Given the description of an element on the screen output the (x, y) to click on. 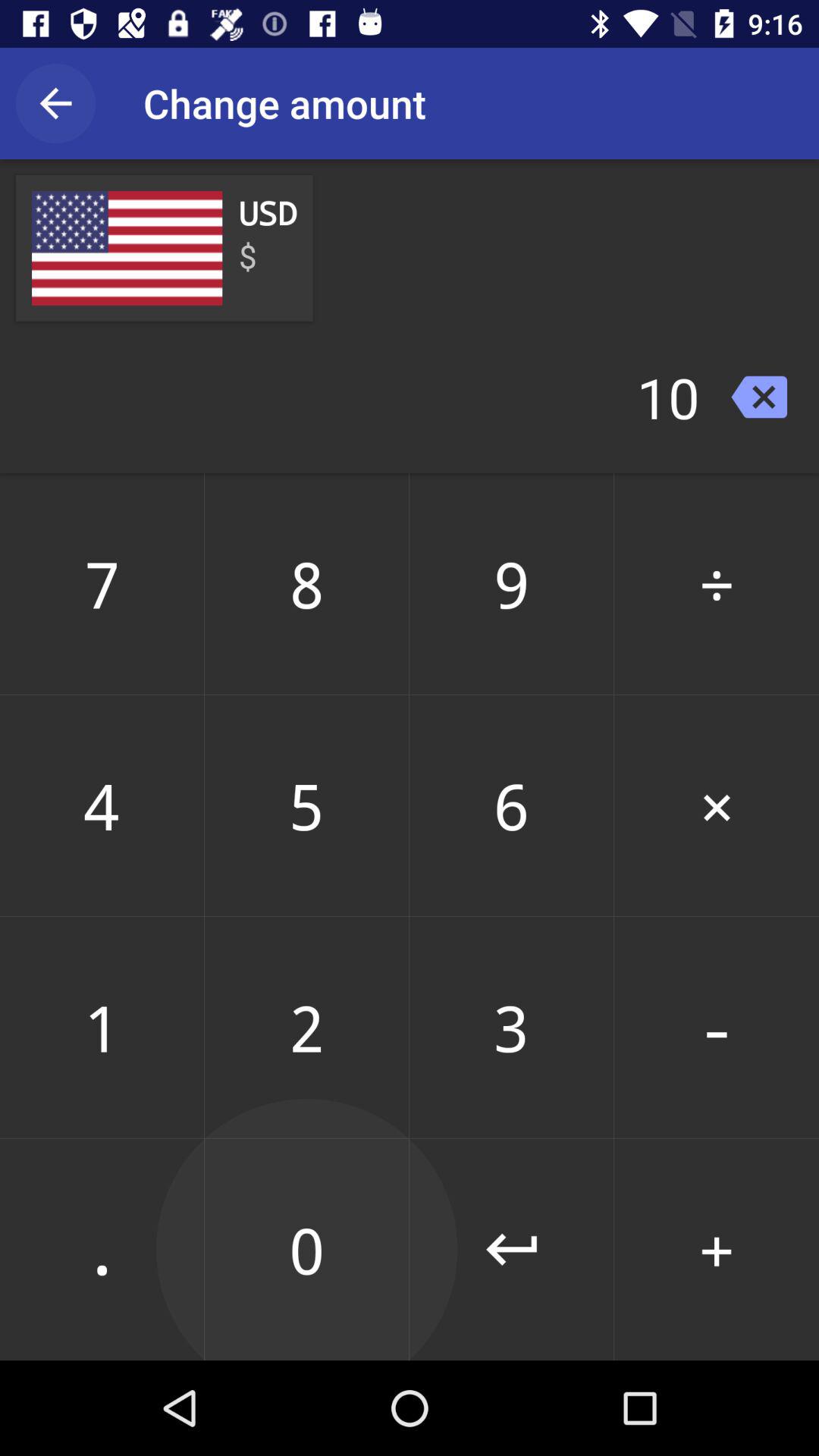
press item to the right of 2 item (511, 1249)
